Given the description of an element on the screen output the (x, y) to click on. 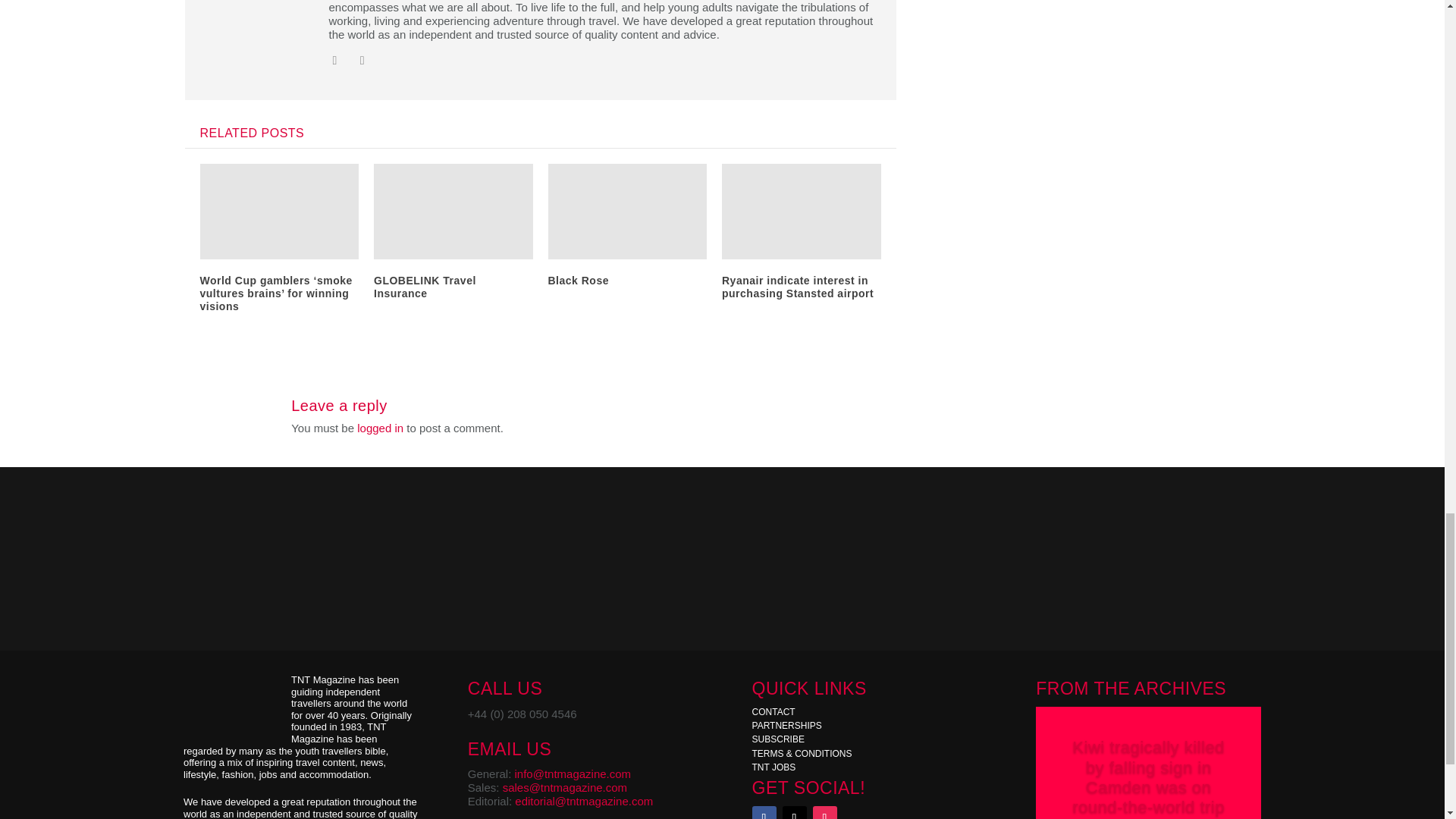
Ryanair indicate interest in purchasing Stansted airport (797, 286)
GLOBELINK Travel Insurance (425, 286)
Black Rose (577, 280)
